Given the description of an element on the screen output the (x, y) to click on. 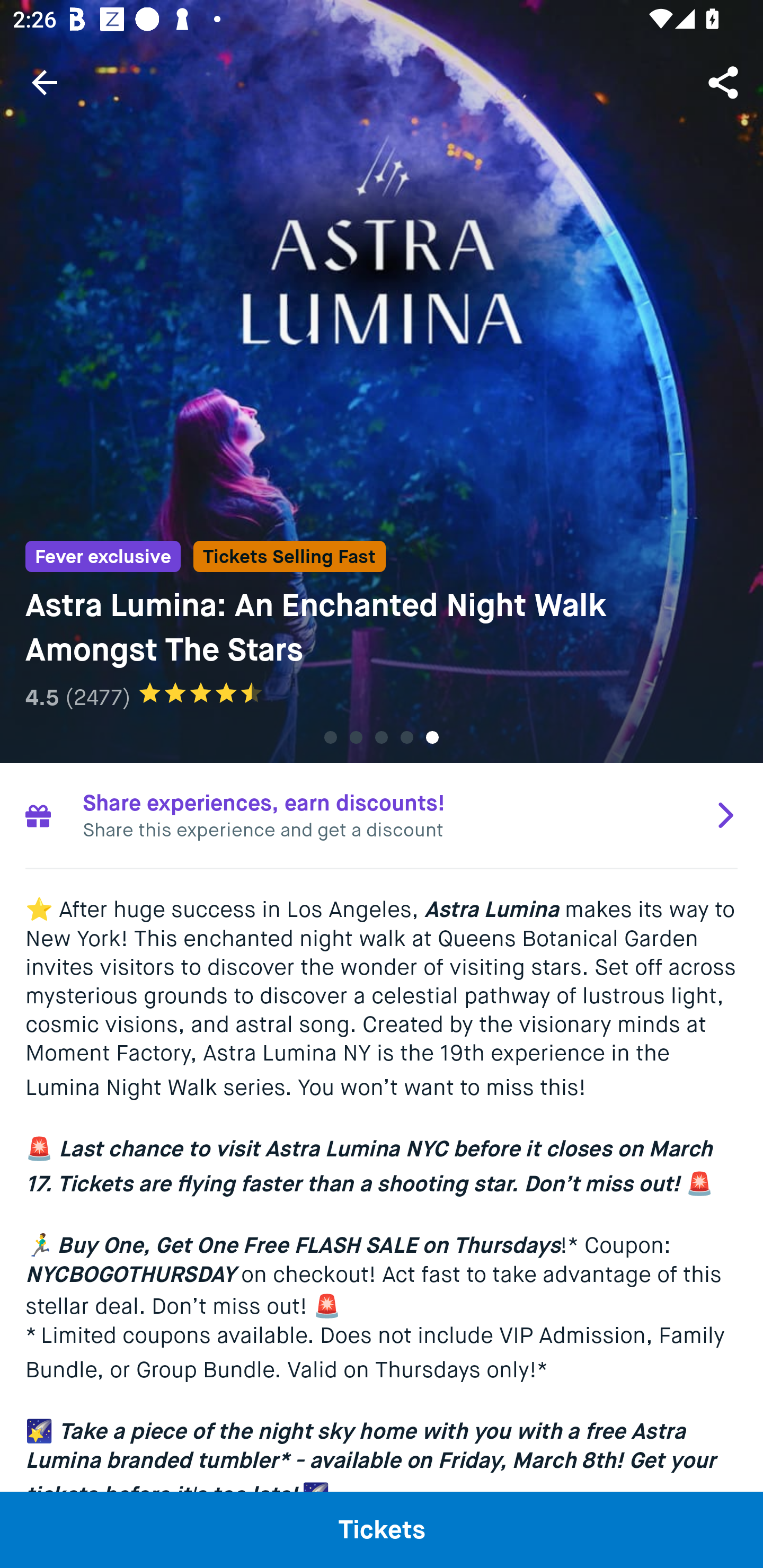
Navigate up (44, 82)
Share (724, 81)
(2477) (97, 697)
Tickets (381, 1529)
